Given the description of an element on the screen output the (x, y) to click on. 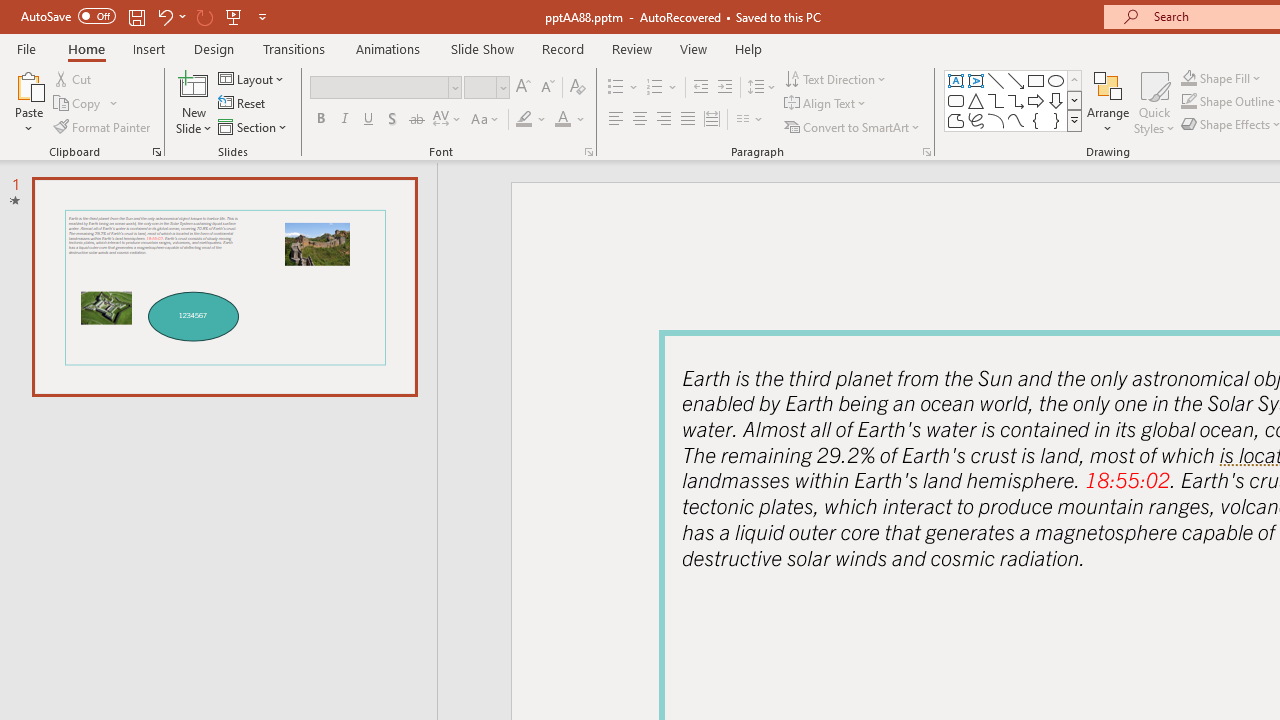
Freeform: Scribble (975, 120)
Freeform: Shape (955, 120)
Bold (320, 119)
Left Brace (1035, 120)
Columns (750, 119)
